Given the description of an element on the screen output the (x, y) to click on. 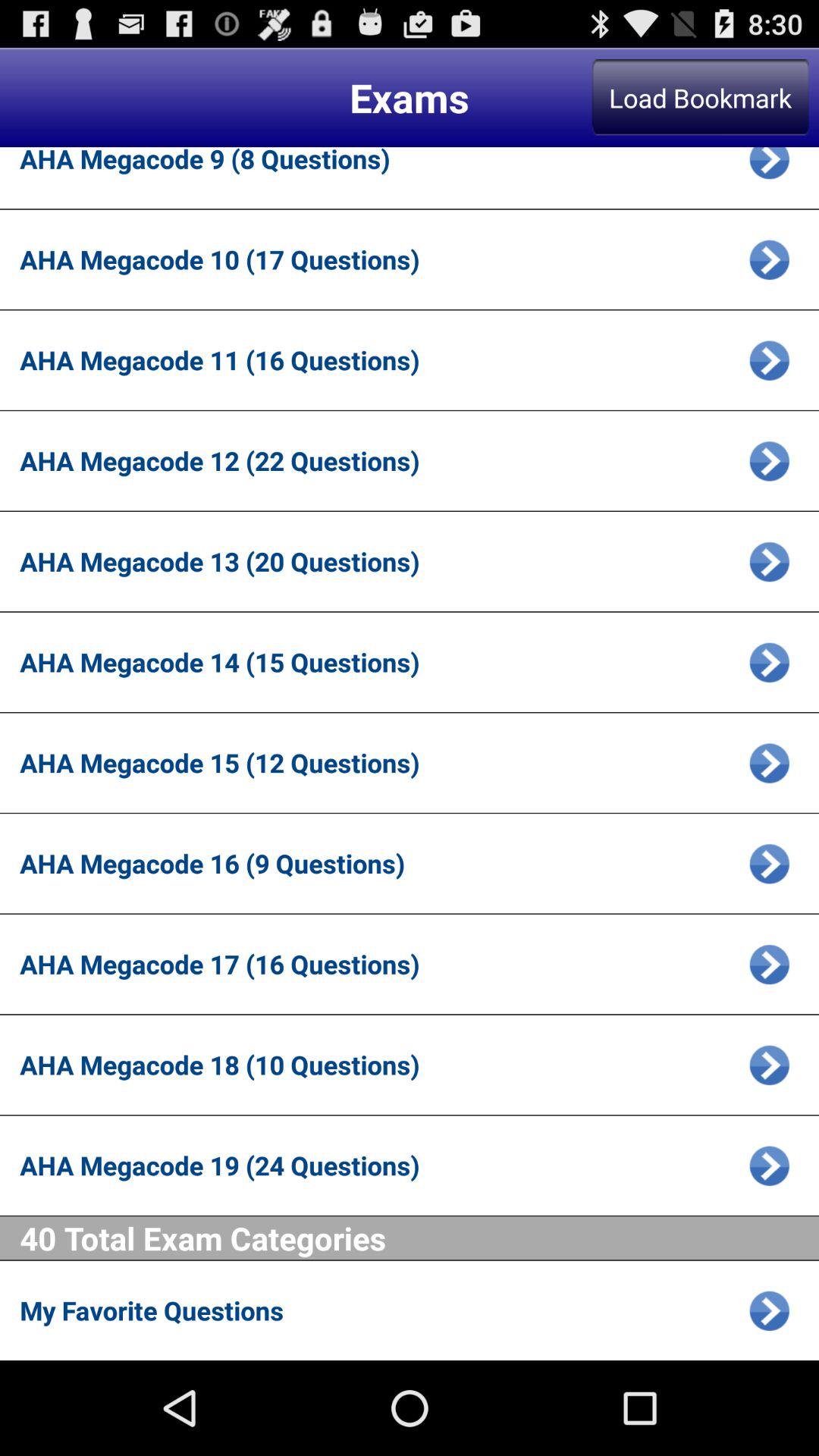
go to megacode 14 (769, 662)
